Given the description of an element on the screen output the (x, y) to click on. 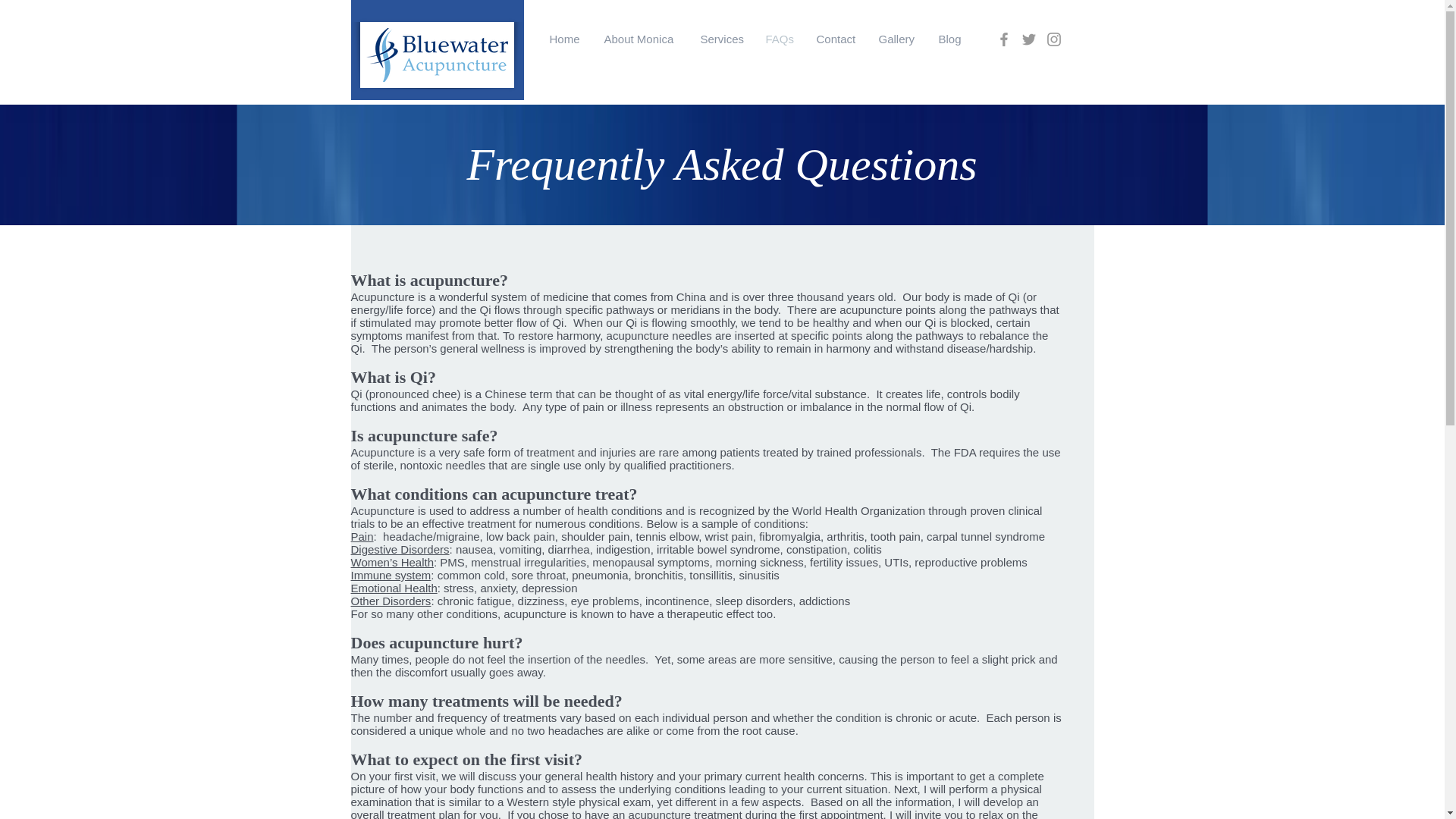
Contact (836, 38)
Blog (949, 38)
Gallery (897, 38)
Bluewater Acupuncture (609, 136)
Services (721, 38)
Home (565, 38)
About Monica (640, 38)
FAQs (779, 38)
